Given the description of an element on the screen output the (x, y) to click on. 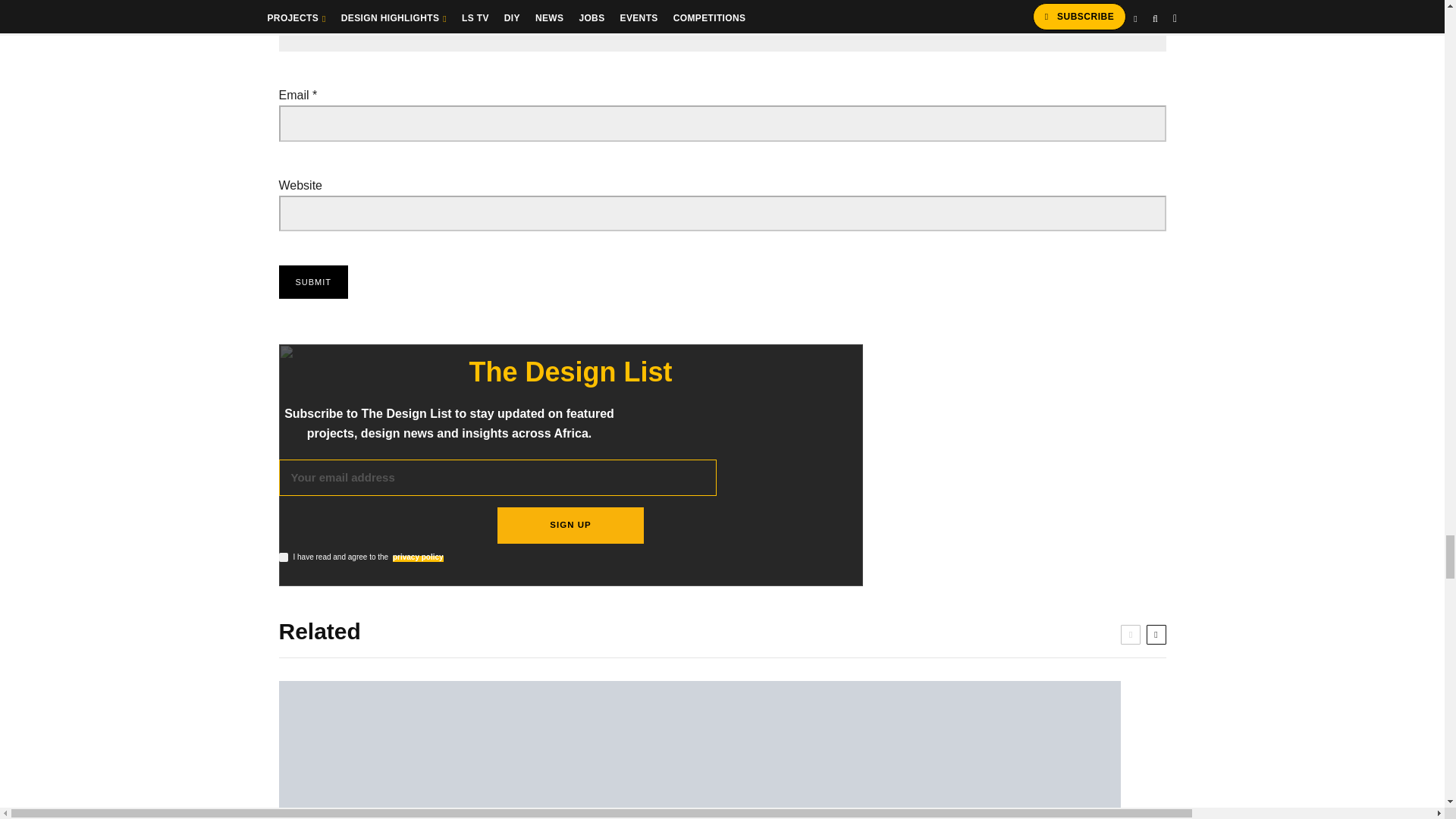
Submit (314, 281)
